Given the description of an element on the screen output the (x, y) to click on. 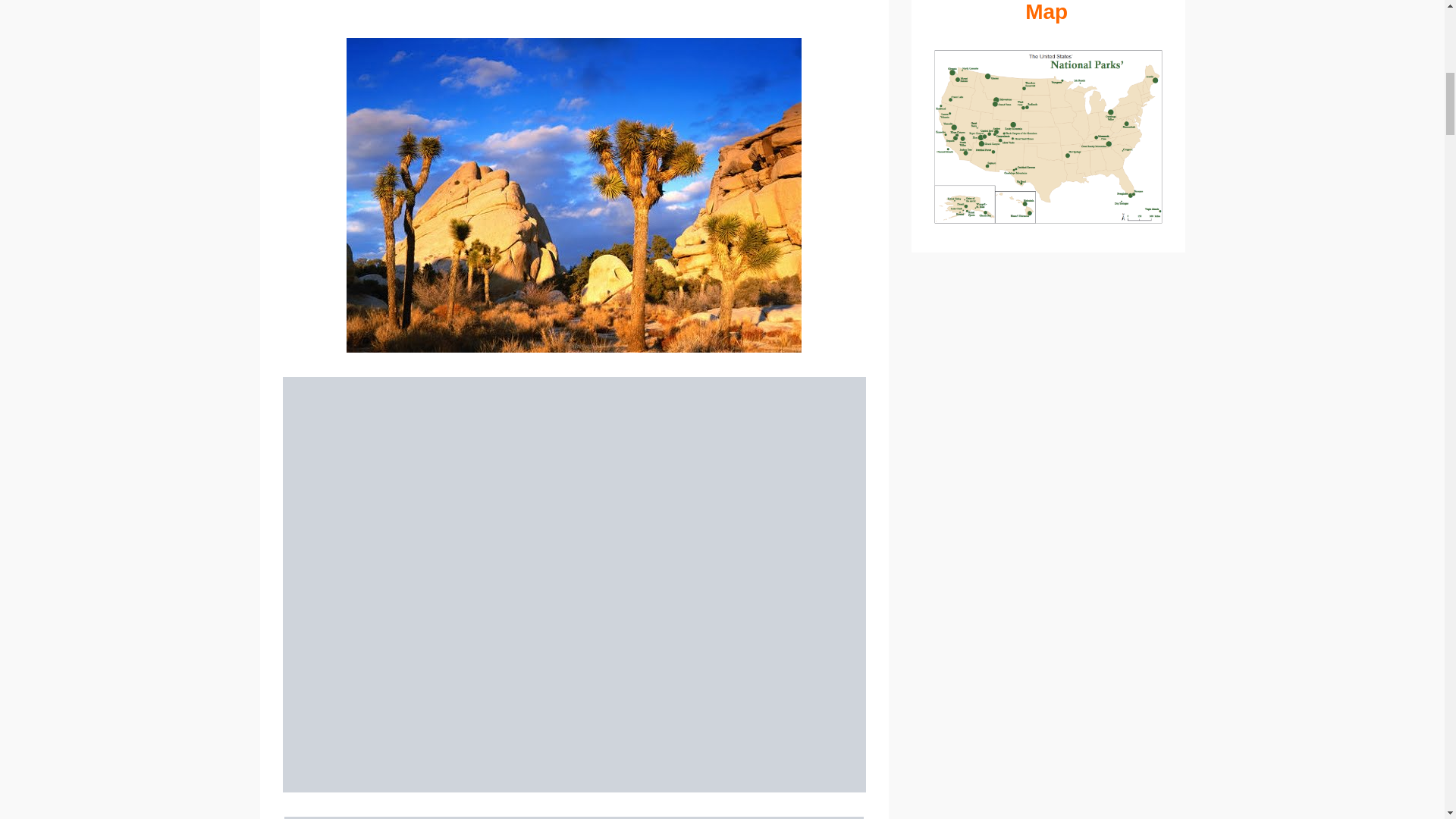
US National Parks Map (1048, 12)
